Given the description of an element on the screen output the (x, y) to click on. 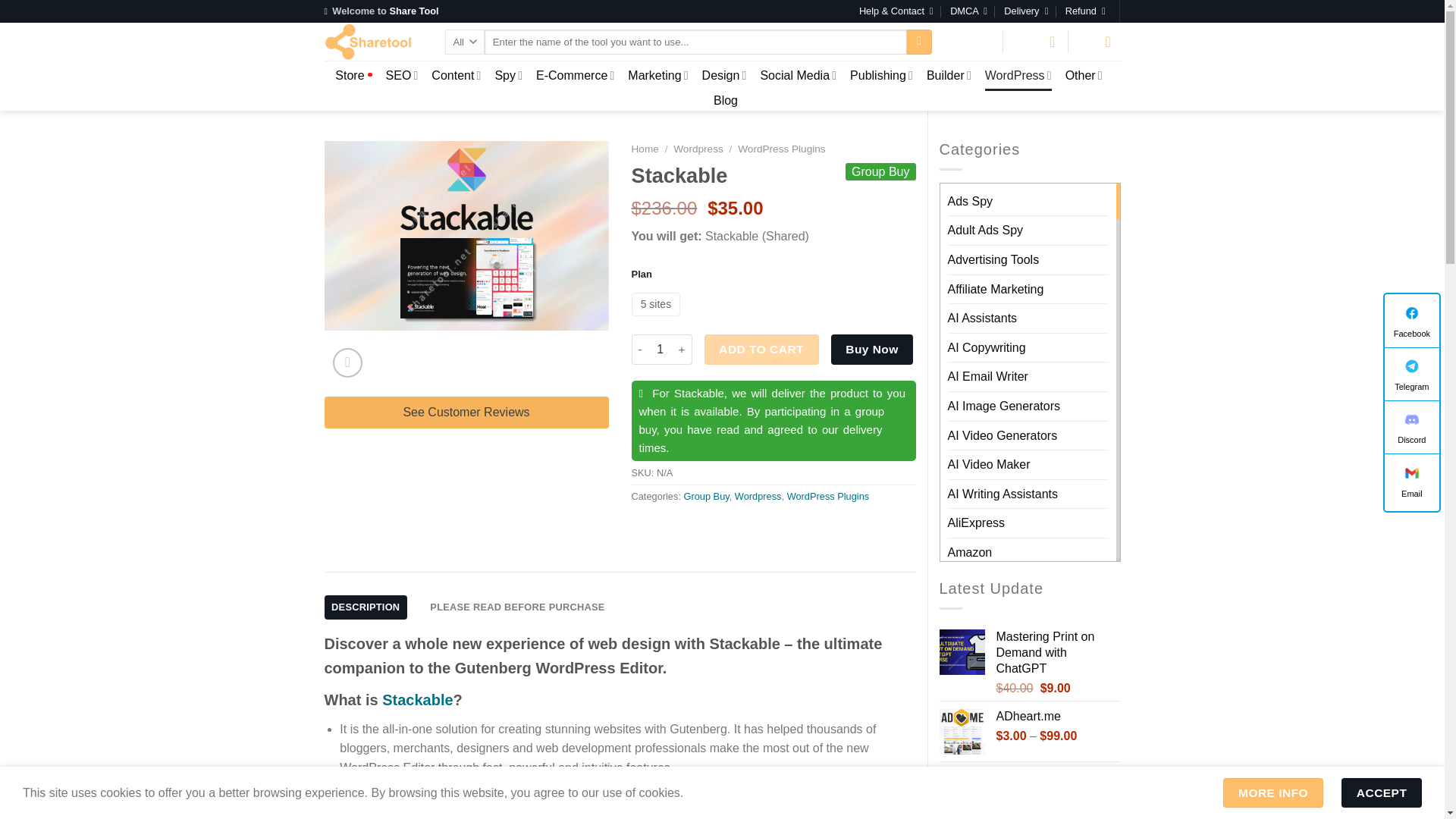
SEO (402, 75)
Saved (1035, 41)
Zoom (347, 362)
Refund   (1085, 11)
Login (976, 41)
Content (455, 75)
Spy (508, 75)
1 (659, 349)
Cart (1101, 41)
Search (919, 42)
Login (976, 41)
Store (352, 75)
E-Commerce (574, 75)
DMCA   (968, 11)
Stackable (466, 235)
